Given the description of an element on the screen output the (x, y) to click on. 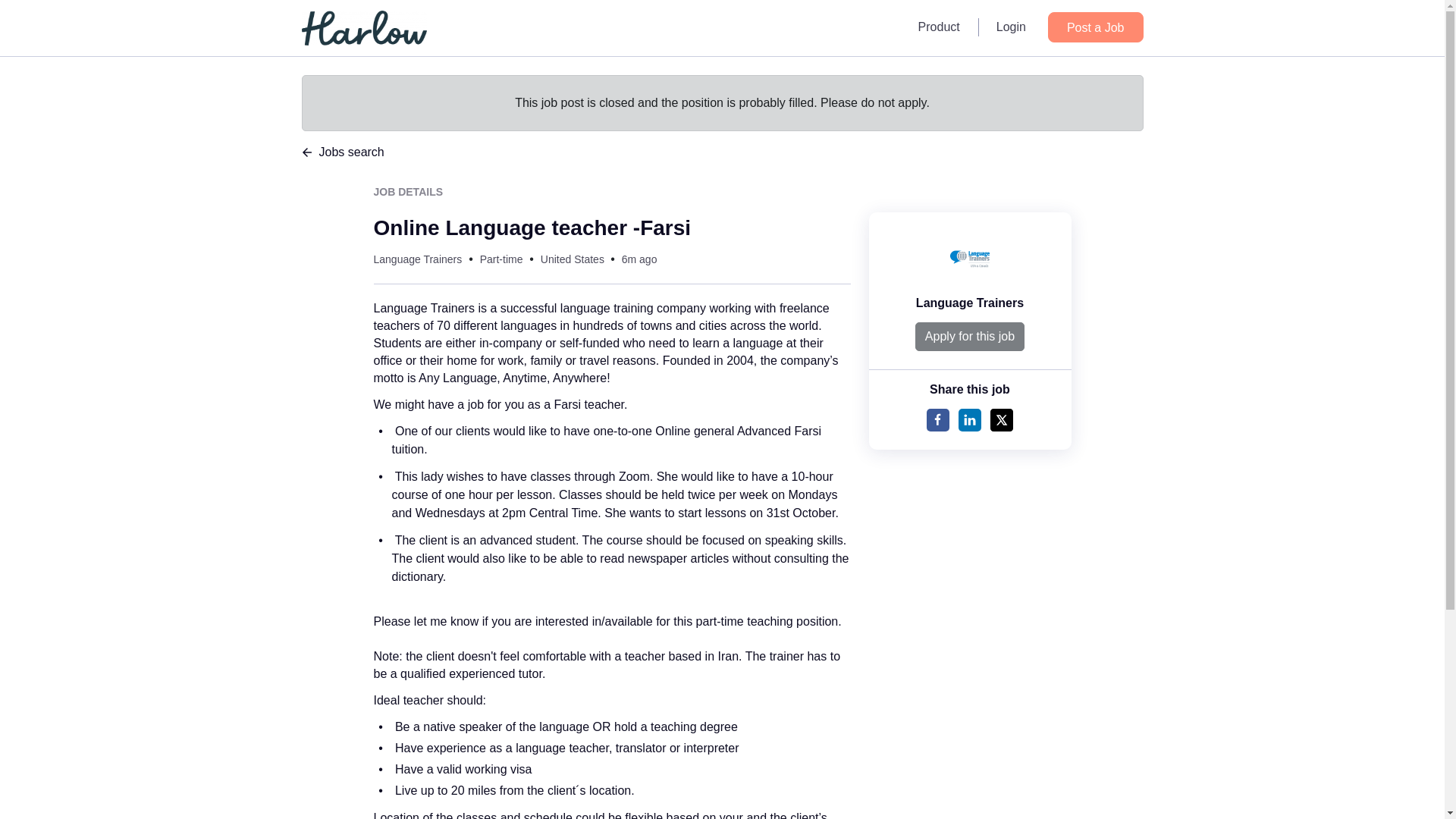
Post a Job (1095, 27)
Apply for this job (970, 336)
Share to FB (937, 419)
Part-time (501, 259)
Login (1011, 26)
Share to Linkedin (969, 419)
Product (938, 26)
Jobs search (721, 152)
Language Trainers (416, 259)
Language Trainers (969, 302)
Share to Twitter (1001, 419)
